Given the description of an element on the screen output the (x, y) to click on. 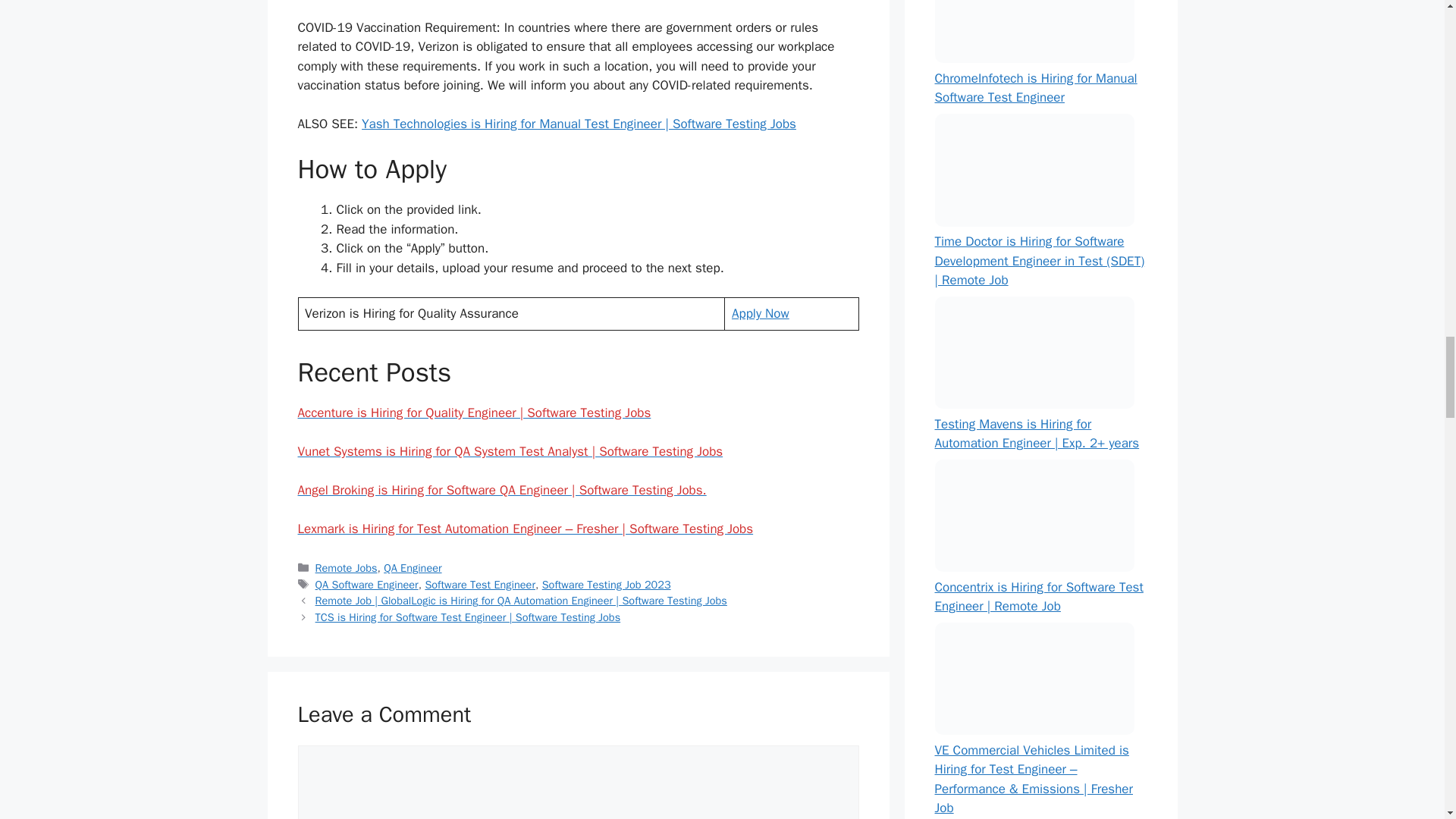
Software Testing Job 2023 (606, 584)
Remote Jobs (346, 567)
Software Test Engineer (480, 584)
QA Software Engineer (367, 584)
QA Engineer (412, 567)
Apply Now (760, 313)
